Given the description of an element on the screen output the (x, y) to click on. 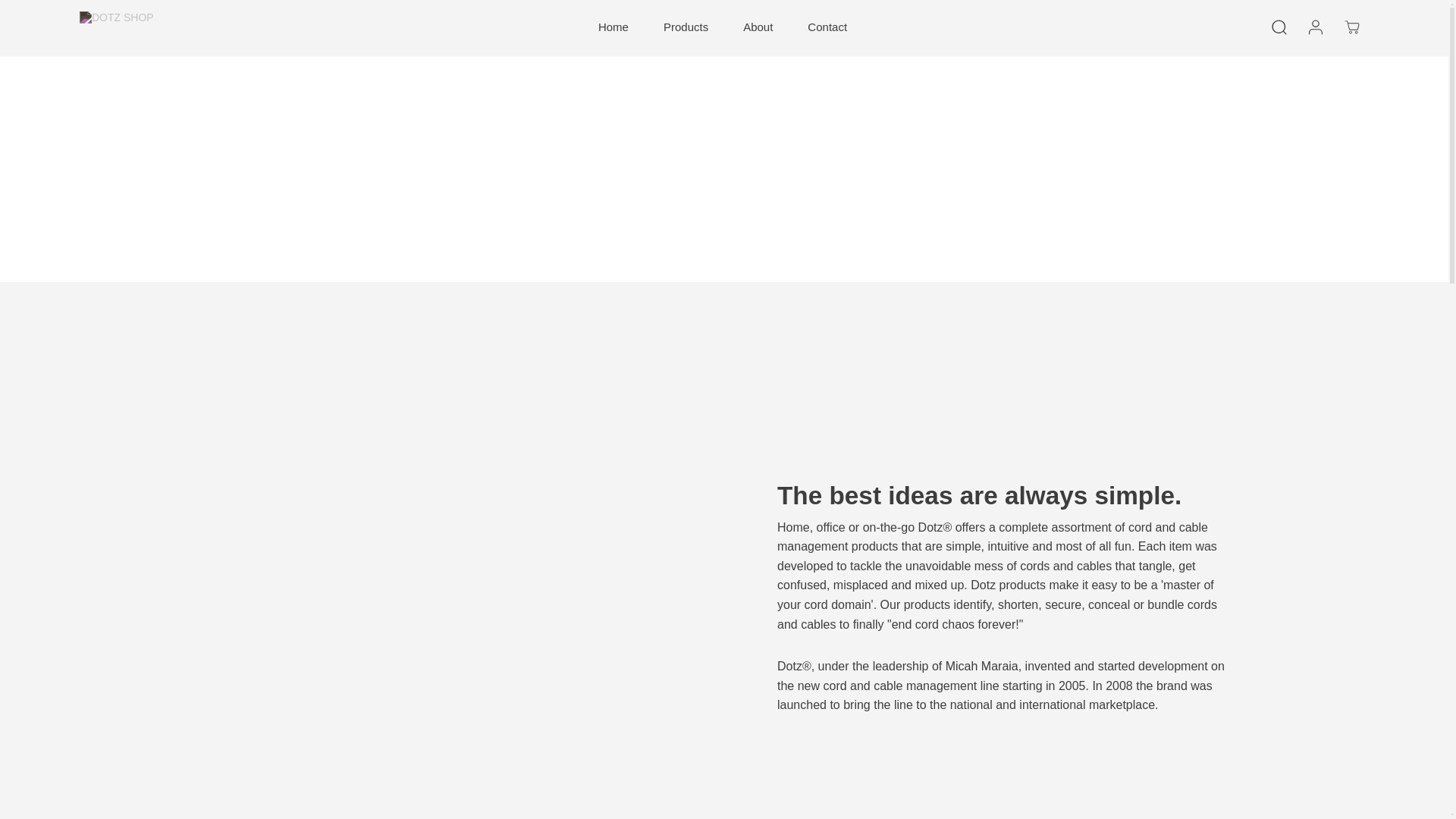
Log in (1315, 27)
Cart (1351, 27)
SKIP TO CONTENT (60, 18)
Contact (827, 27)
About (758, 27)
Products (685, 27)
Home (613, 27)
Search (1278, 27)
